Given the description of an element on the screen output the (x, y) to click on. 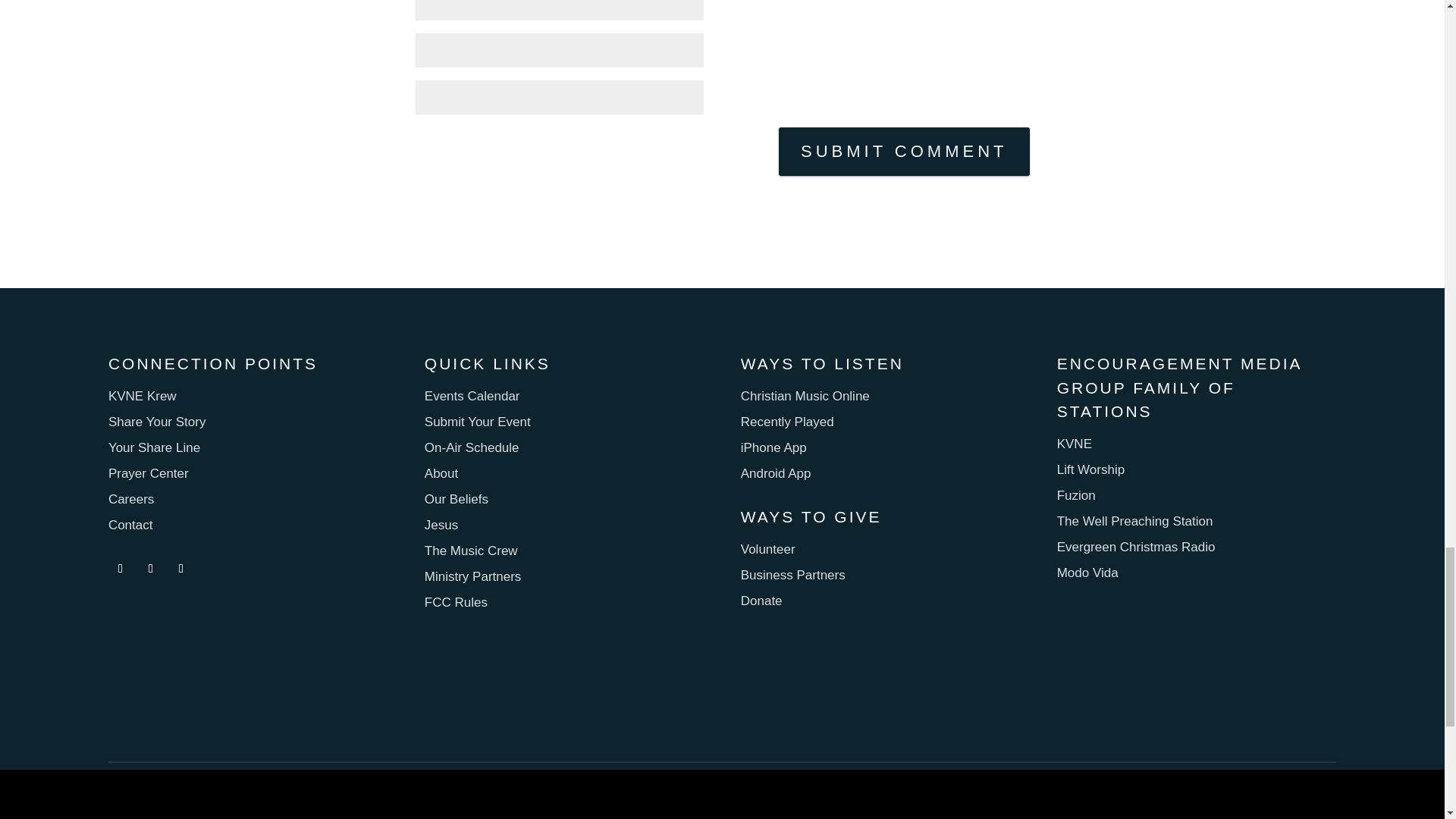
Follow on Facebook (119, 568)
Follow on Instagram (150, 568)
Follow on Vimeo (180, 568)
